Given the description of an element on the screen output the (x, y) to click on. 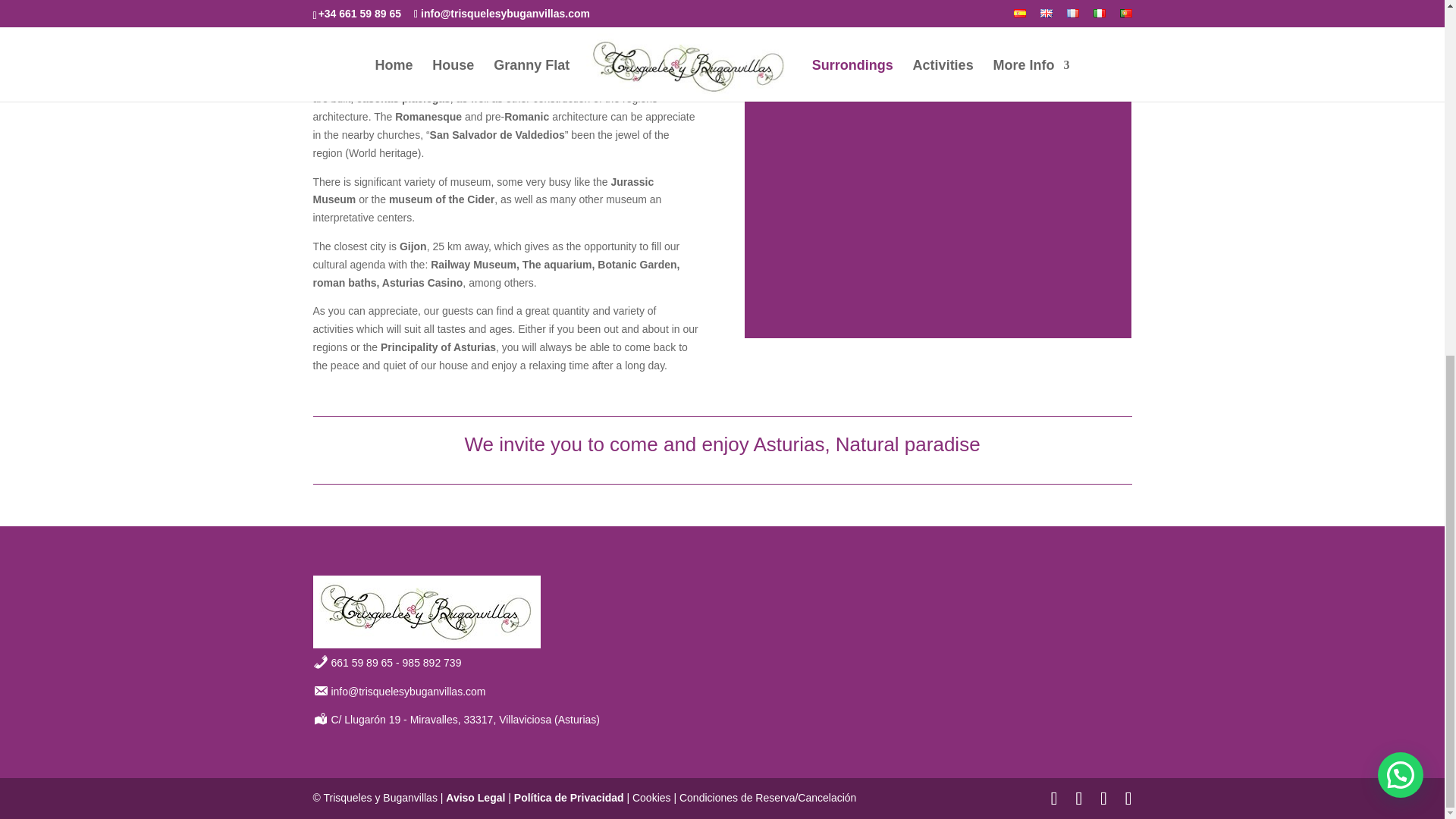
Aviso Legal (475, 797)
